Given the description of an element on the screen output the (x, y) to click on. 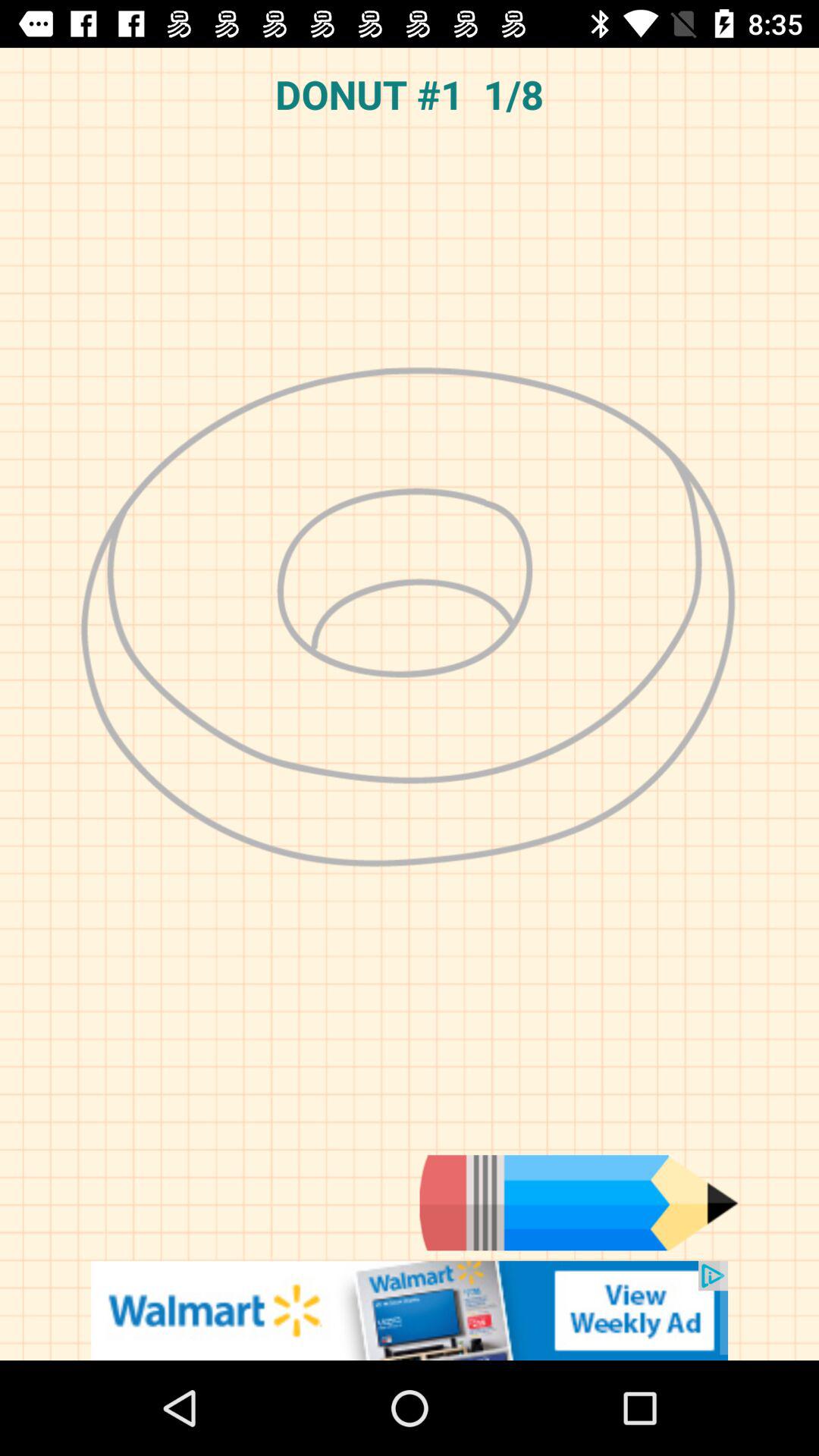
draw (578, 1202)
